Given the description of an element on the screen output the (x, y) to click on. 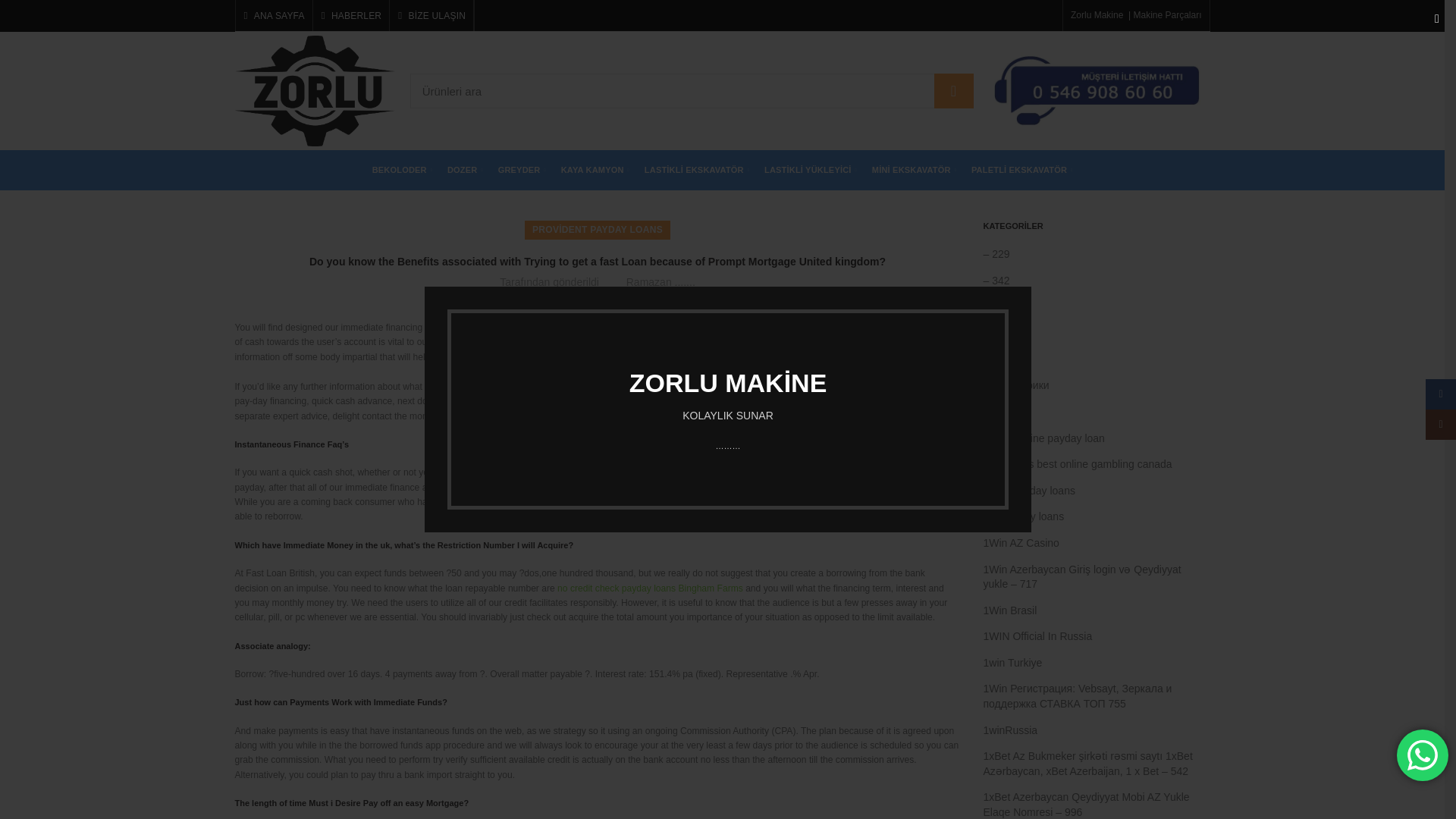
HABERLER (351, 15)
ANA SAYFA (272, 15)
GREYDER (521, 169)
BEKOLODER (402, 169)
KAYA KAMYON (595, 169)
ARAMA (954, 90)
DOZER (464, 169)
